Given the description of an element on the screen output the (x, y) to click on. 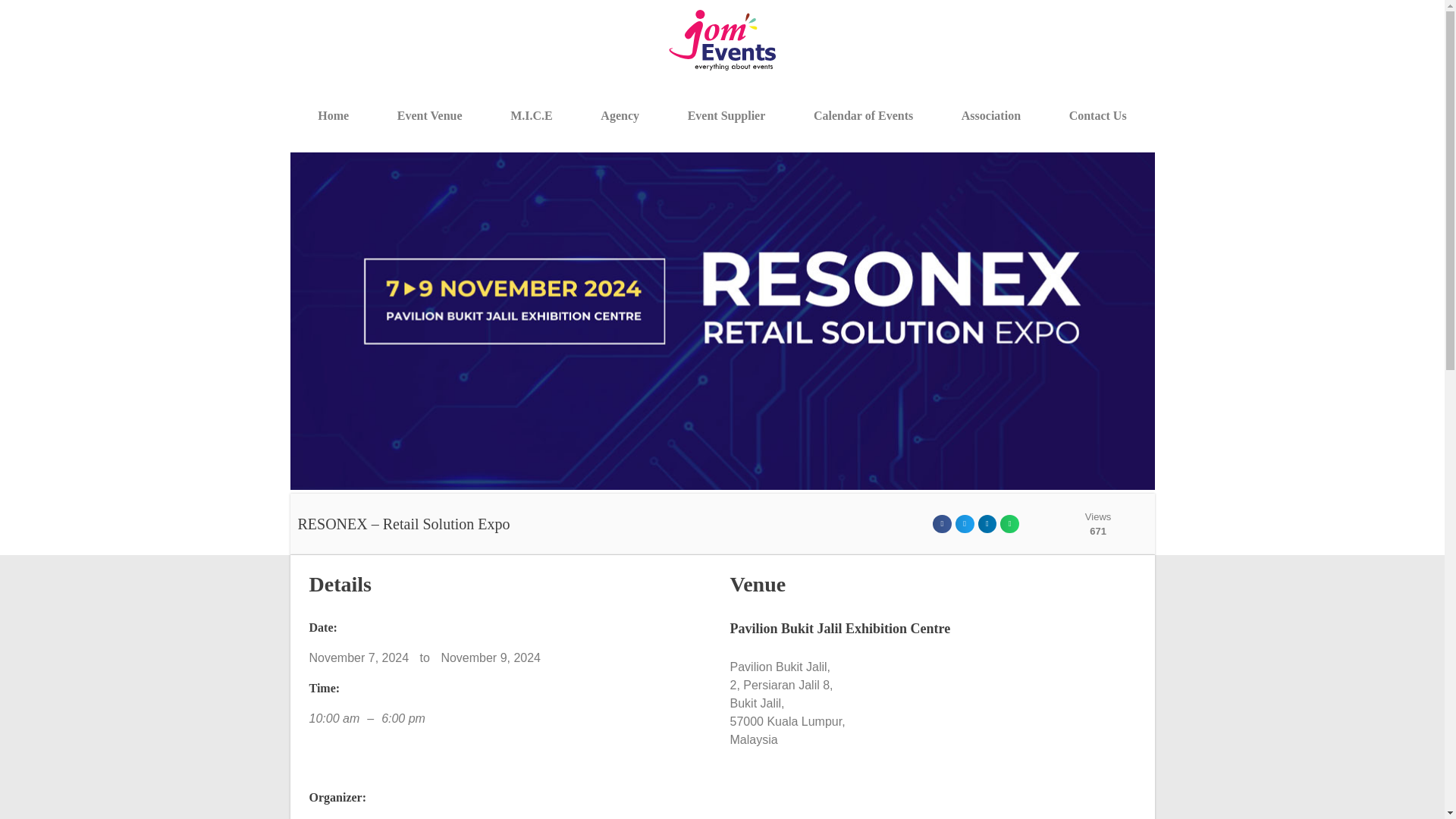
Contact Us (1097, 115)
Event Supplier (726, 115)
M.I.C.E (530, 115)
Agency (619, 115)
Calendar of Events (863, 115)
Home (332, 115)
jomevents-logo (721, 39)
Association (990, 115)
Event Venue (429, 115)
